Given the description of an element on the screen output the (x, y) to click on. 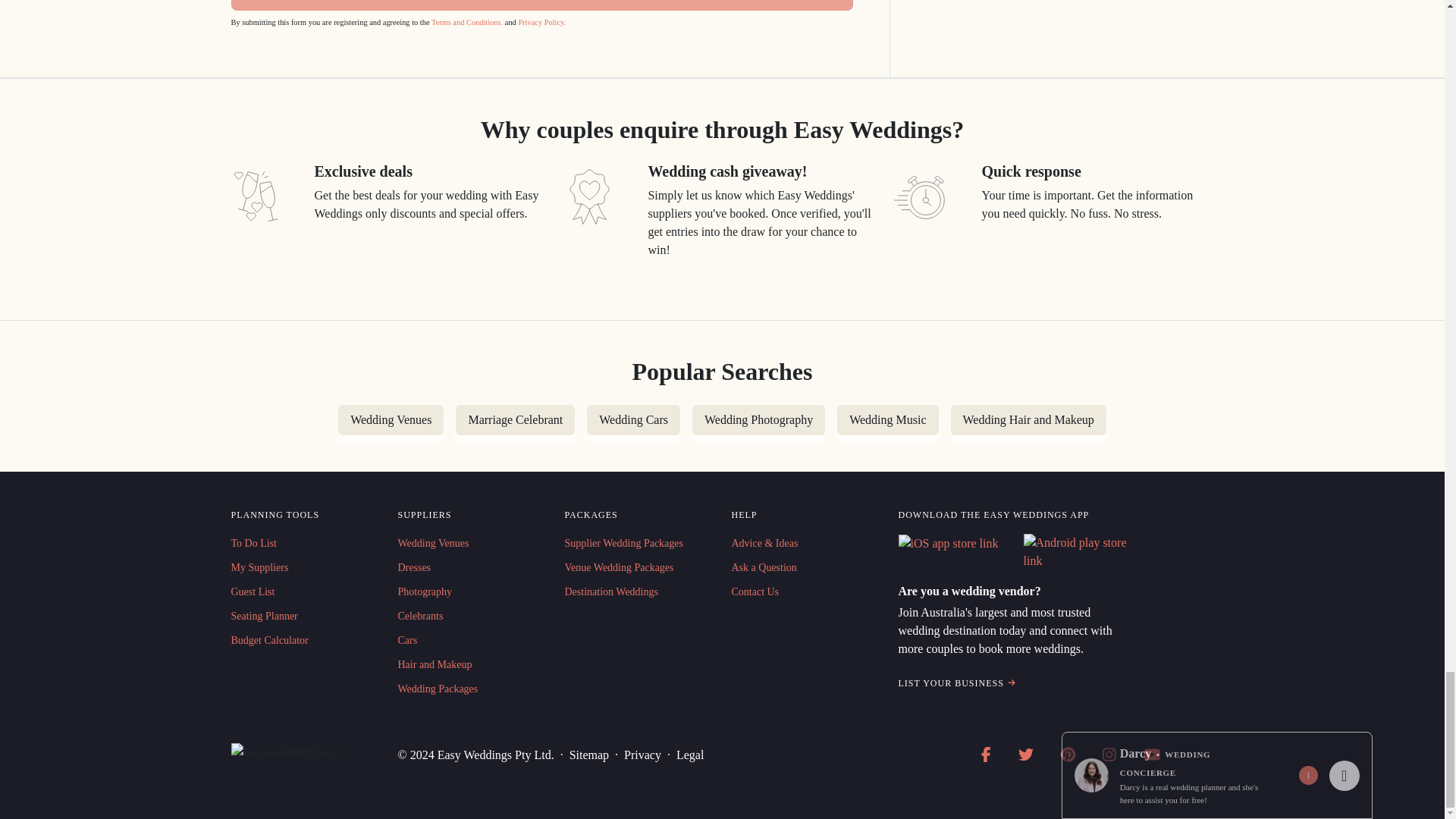
Android play store link (1077, 551)
iOS app store link (947, 543)
giveaway (588, 196)
Exclusive deals (255, 196)
Quick response (922, 196)
